Given the description of an element on the screen output the (x, y) to click on. 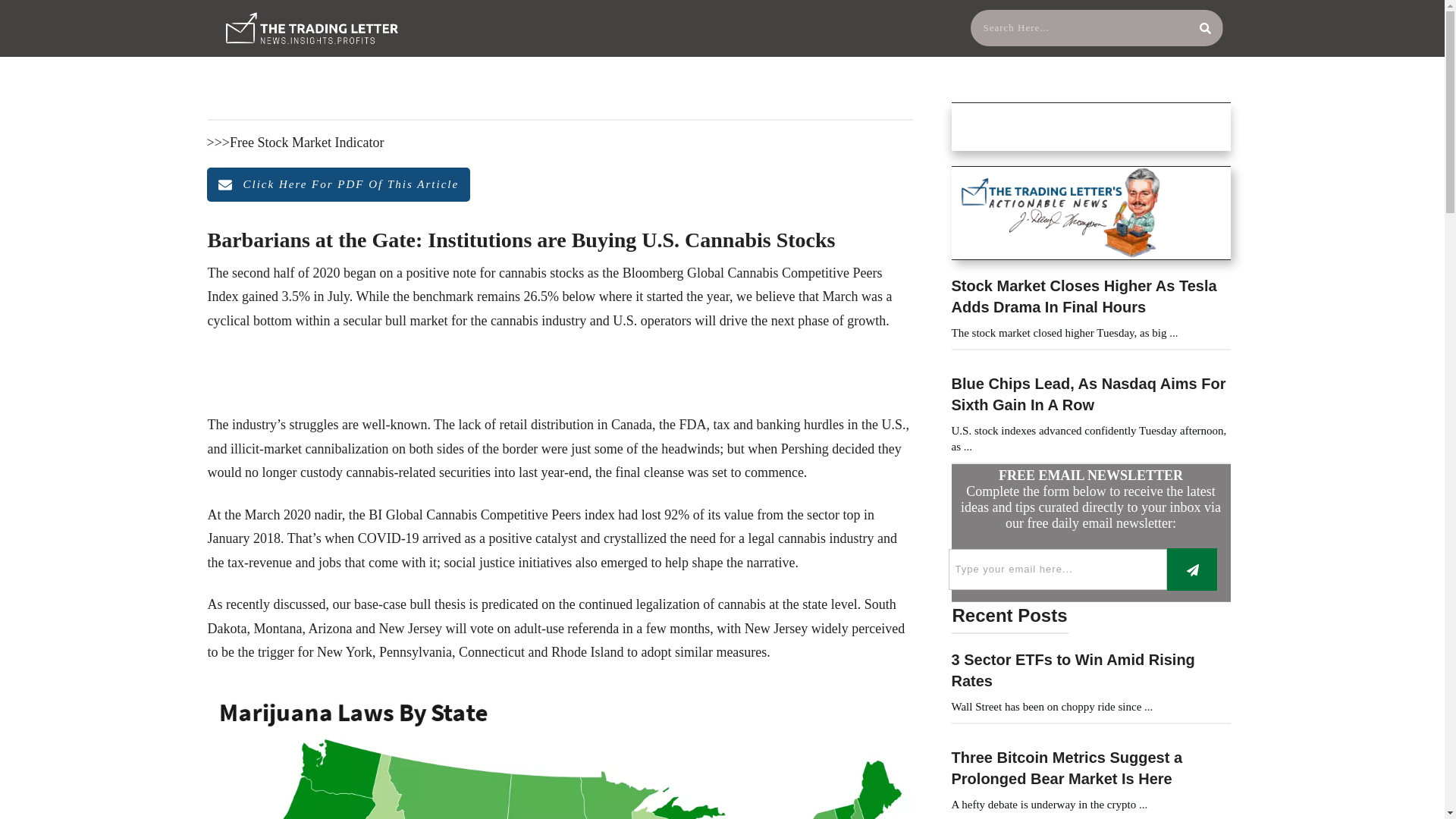
3 Sector ETFs to Win Amid Rising Rates (1071, 670)
Blue Chips Lead, As Nasdaq Aims For Sixth Gain In A Row (1087, 394)
Click Here For PDF Of This Article (338, 184)
Blue Chips Lead, As Nasdaq Aims For Sixth Gain In A Row (1087, 394)
3 Sector ETFs to Win Amid Rising Rates (1071, 670)
